Given the description of an element on the screen output the (x, y) to click on. 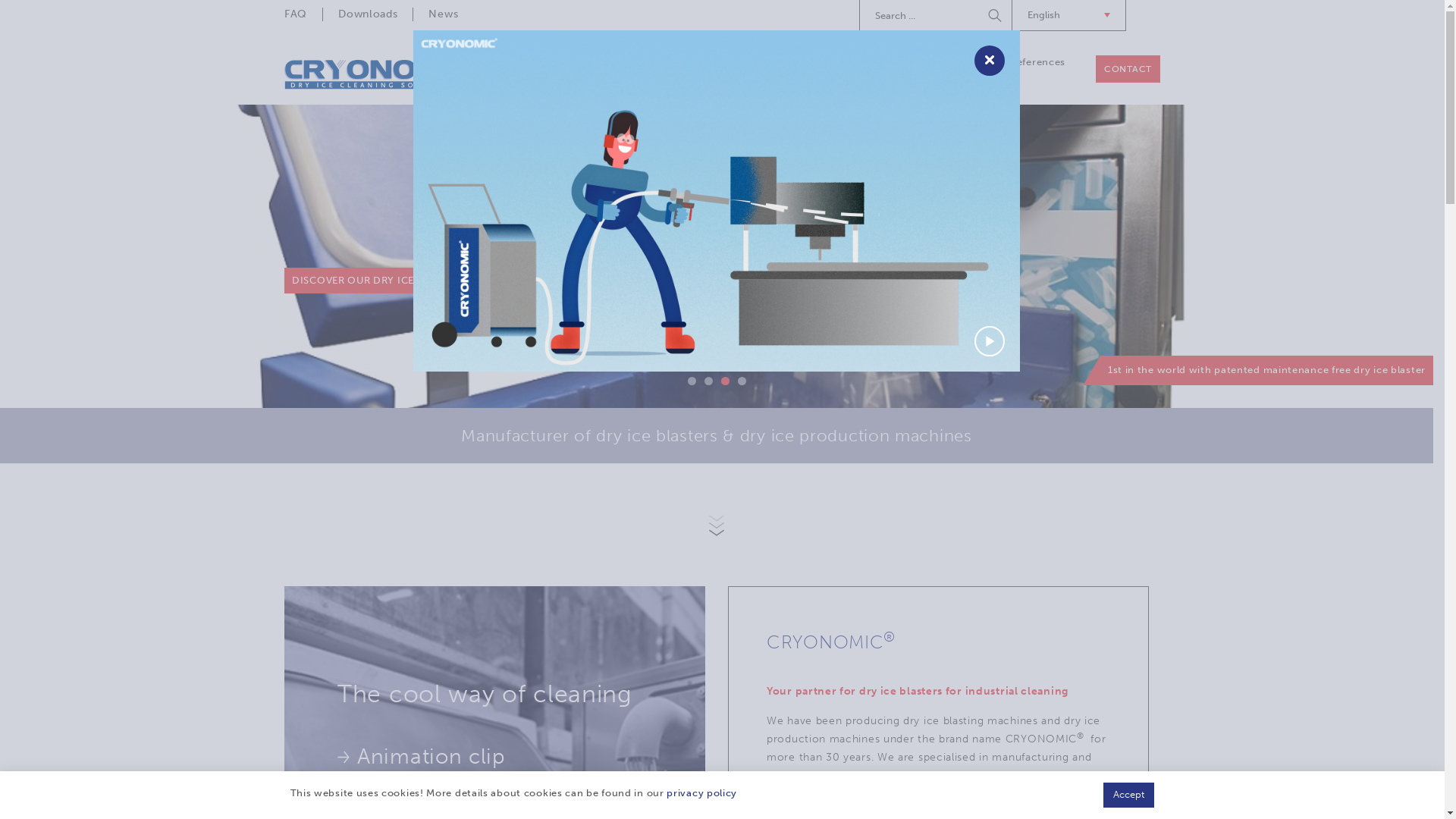
1 Element type: text (691, 380)
4 Element type: text (741, 380)
References Element type: text (1037, 62)
English Element type: text (1069, 15)
Accept Element type: text (1128, 794)
Downloads Element type: text (367, 14)
Dry ice process Element type: text (774, 62)
CONTACT Element type: text (1127, 68)
News Element type: text (442, 14)
Advantages Element type: text (405, 795)
Products Element type: text (681, 62)
3 Element type: text (724, 380)
privacy policy Element type: text (701, 792)
Company Element type: text (604, 62)
Applications dry ice blasting Element type: text (911, 68)
FAQ Element type: text (303, 14)
DISCOVER OUR DRY ICE PRODUCTS Element type: text (382, 280)
Animation clip Element type: text (421, 756)
Begin Searching Element type: text (996, 15)
2 Element type: text (707, 380)
